Given the description of an element on the screen output the (x, y) to click on. 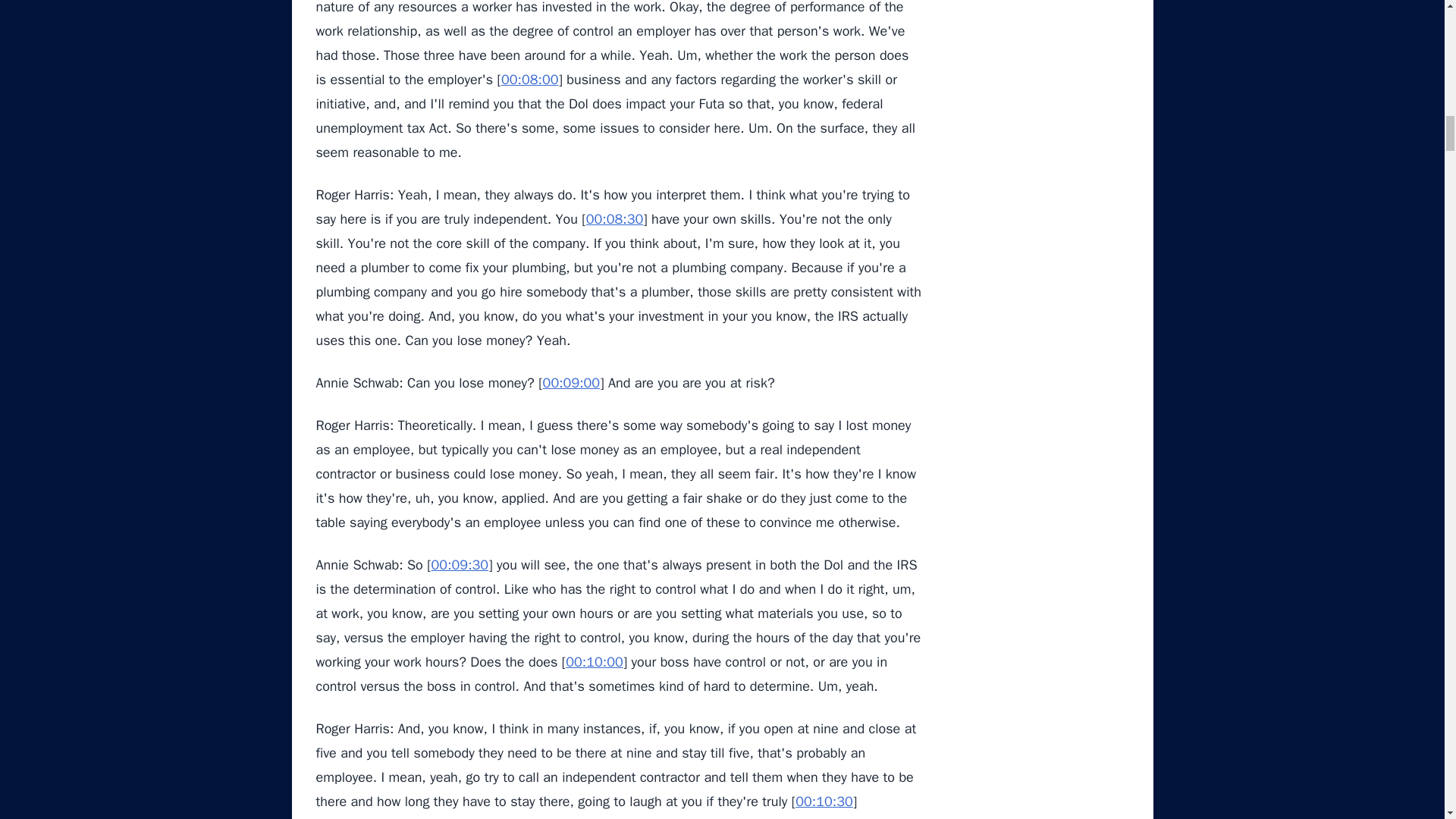
00:09:00 (571, 382)
00:10:30 (823, 801)
00:08:30 (614, 218)
00:08:00 (529, 79)
00:10:00 (594, 661)
00:09:30 (459, 564)
